Given the description of an element on the screen output the (x, y) to click on. 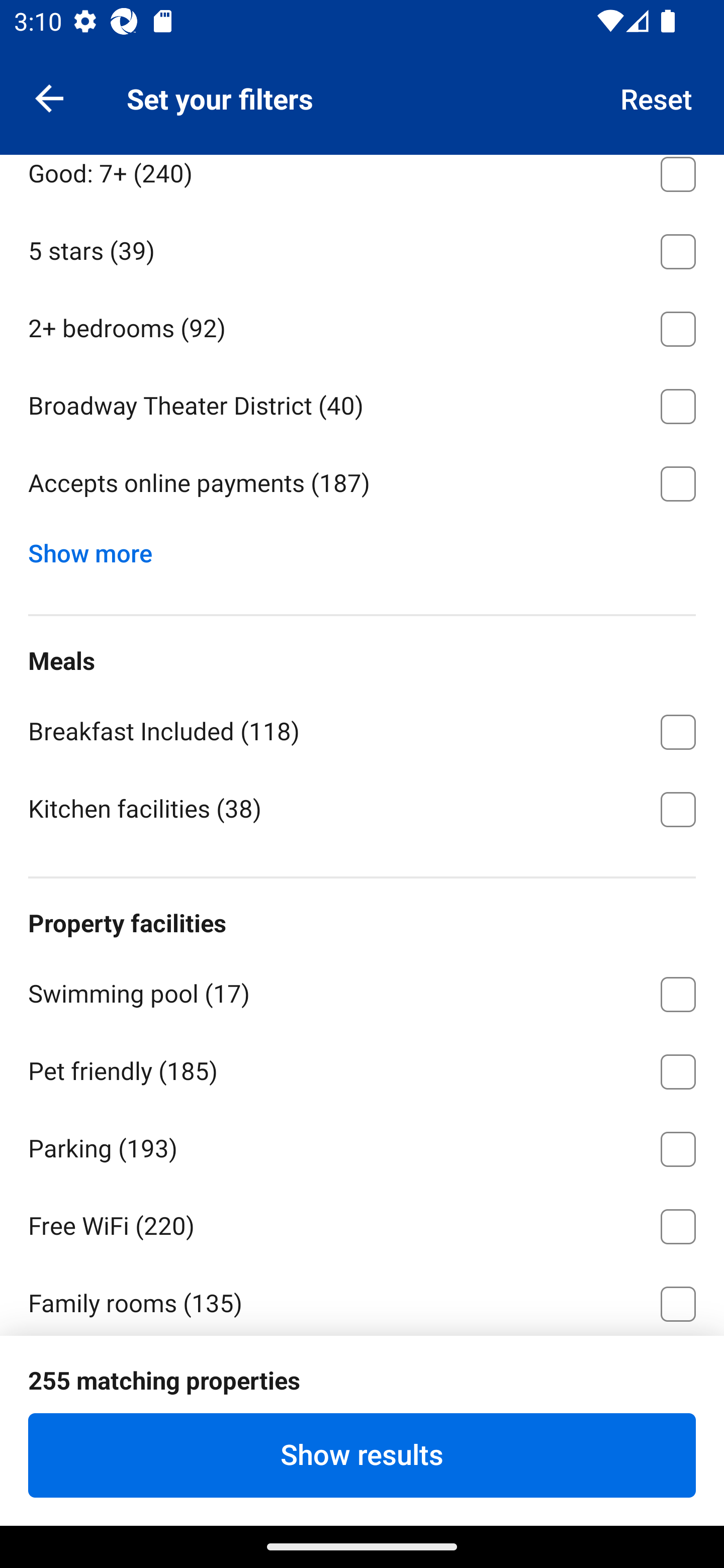
Navigate up (49, 97)
Reset (656, 97)
Good: 7+ ⁦(240) (361, 182)
5 stars ⁦(39) (361, 248)
2+ bedrooms ⁦(92) (361, 324)
Broadway Theater District ⁦(40) (361, 402)
Accepts online payments ⁦(187) (361, 484)
Show more (97, 549)
Breakfast Included ⁦(118) (361, 727)
Kitchen facilities ⁦(38) (361, 807)
Swimming pool ⁦(17) (361, 990)
Pet friendly ⁦(185) (361, 1068)
Parking ⁦(193) (361, 1145)
Free WiFi ⁦(220) (361, 1222)
Family rooms ⁦(135) (361, 1298)
Show results (361, 1454)
